Given the description of an element on the screen output the (x, y) to click on. 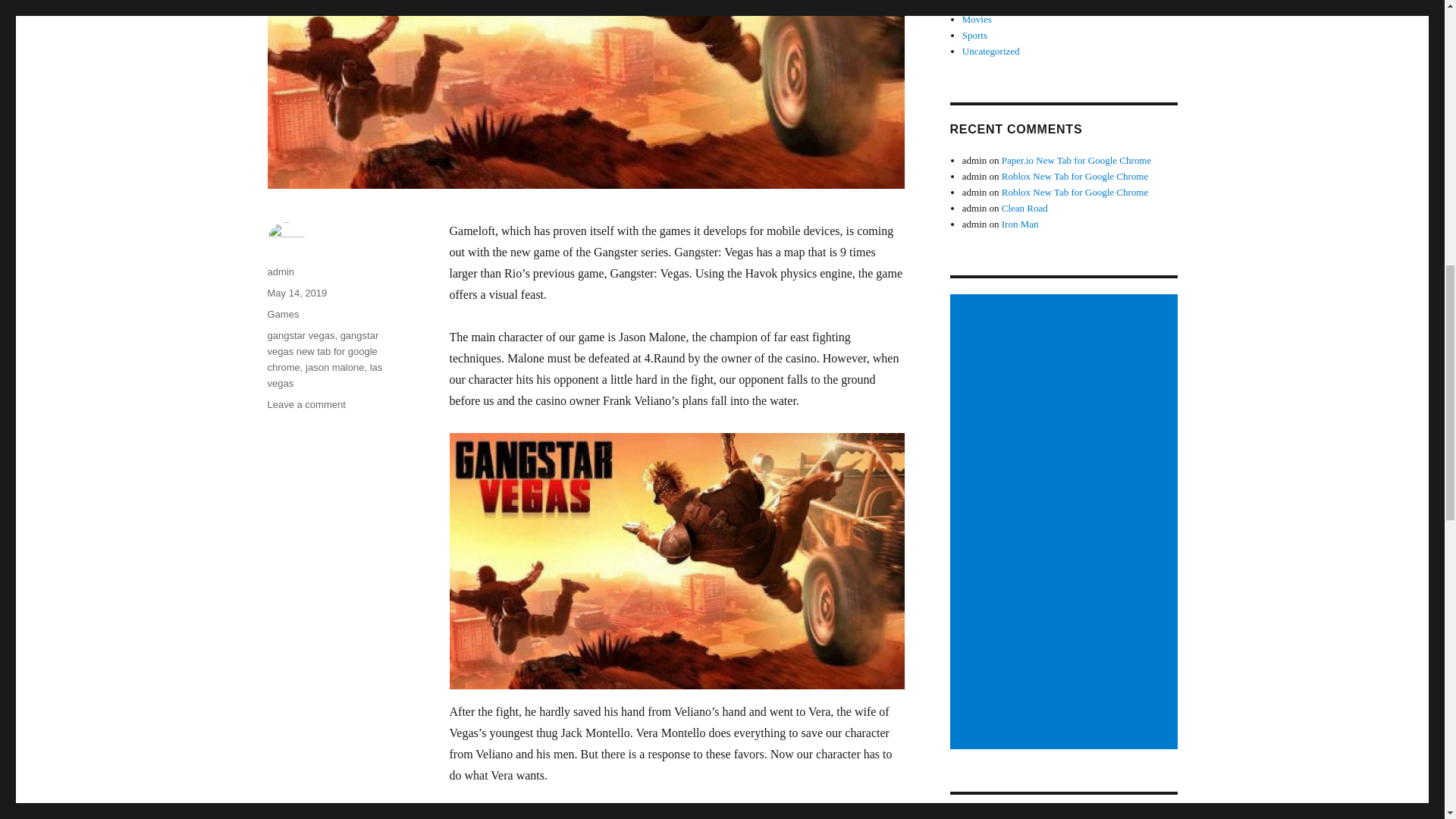
Games (976, 4)
Movies (976, 19)
Roblox New Tab for Google Chrome (1074, 192)
May 14, 2019 (296, 292)
Roblox New Tab for Google Chrome (1074, 175)
Paper.io New Tab for Google Chrome (1076, 160)
gangstar vegas (300, 335)
Sports (974, 34)
jason malone (334, 367)
gangstar vegas new tab for google chrome (322, 351)
Games (282, 314)
las vegas (323, 375)
Uncategorized (991, 50)
admin (280, 271)
